Given the description of an element on the screen output the (x, y) to click on. 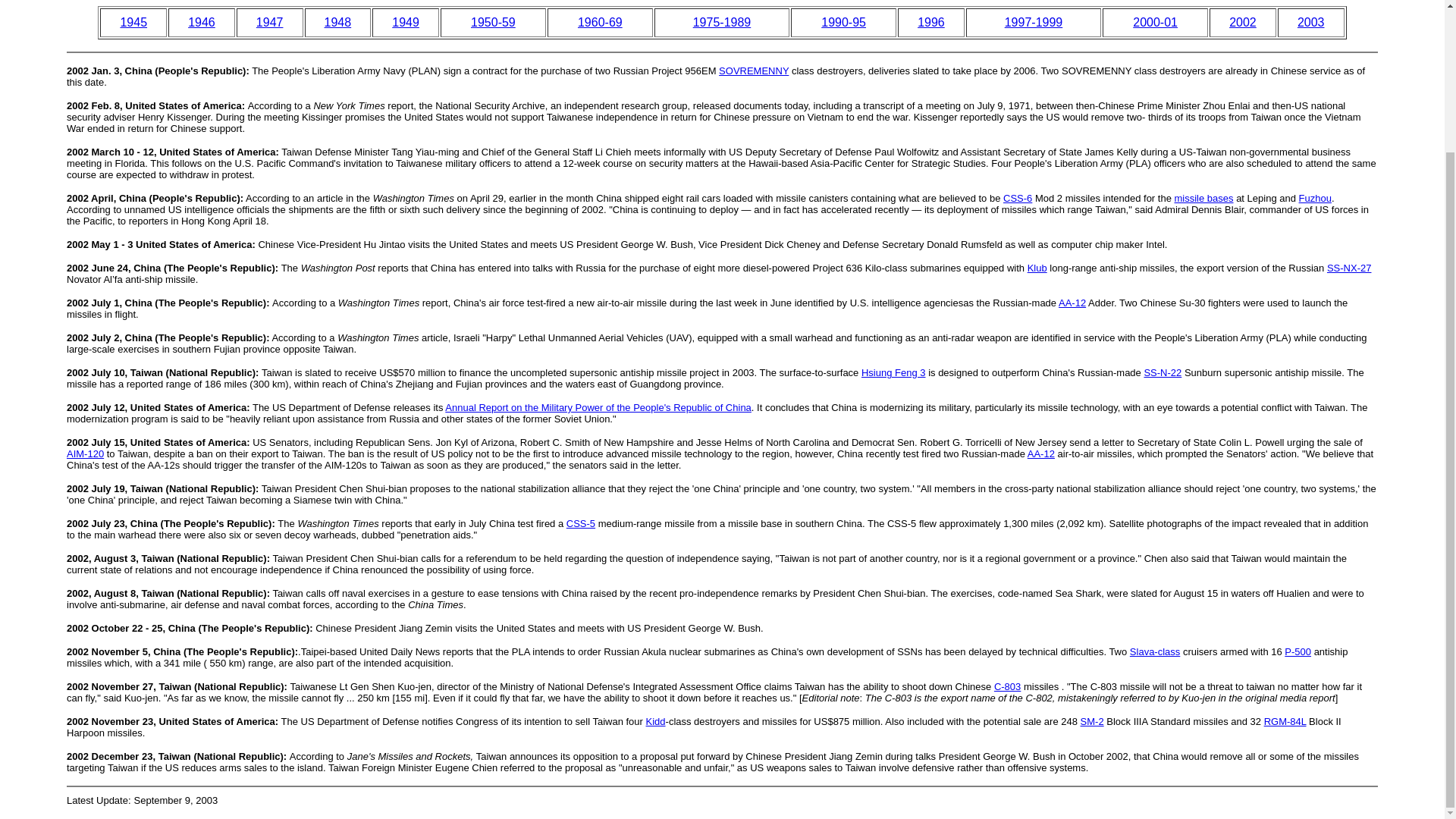
Slava-class (1154, 651)
1996 (930, 21)
1960-69 (600, 21)
SS-N-22 (1161, 372)
1945 (133, 21)
SM-2 (1091, 721)
P-500 (1297, 651)
SOVREMENNY (754, 70)
CSS-5 (580, 523)
Fuzhou (1315, 197)
SS-NX-27 (1348, 267)
missile bases (1203, 197)
1949 (405, 21)
1997-1999 (1033, 21)
